Given the description of an element on the screen output the (x, y) to click on. 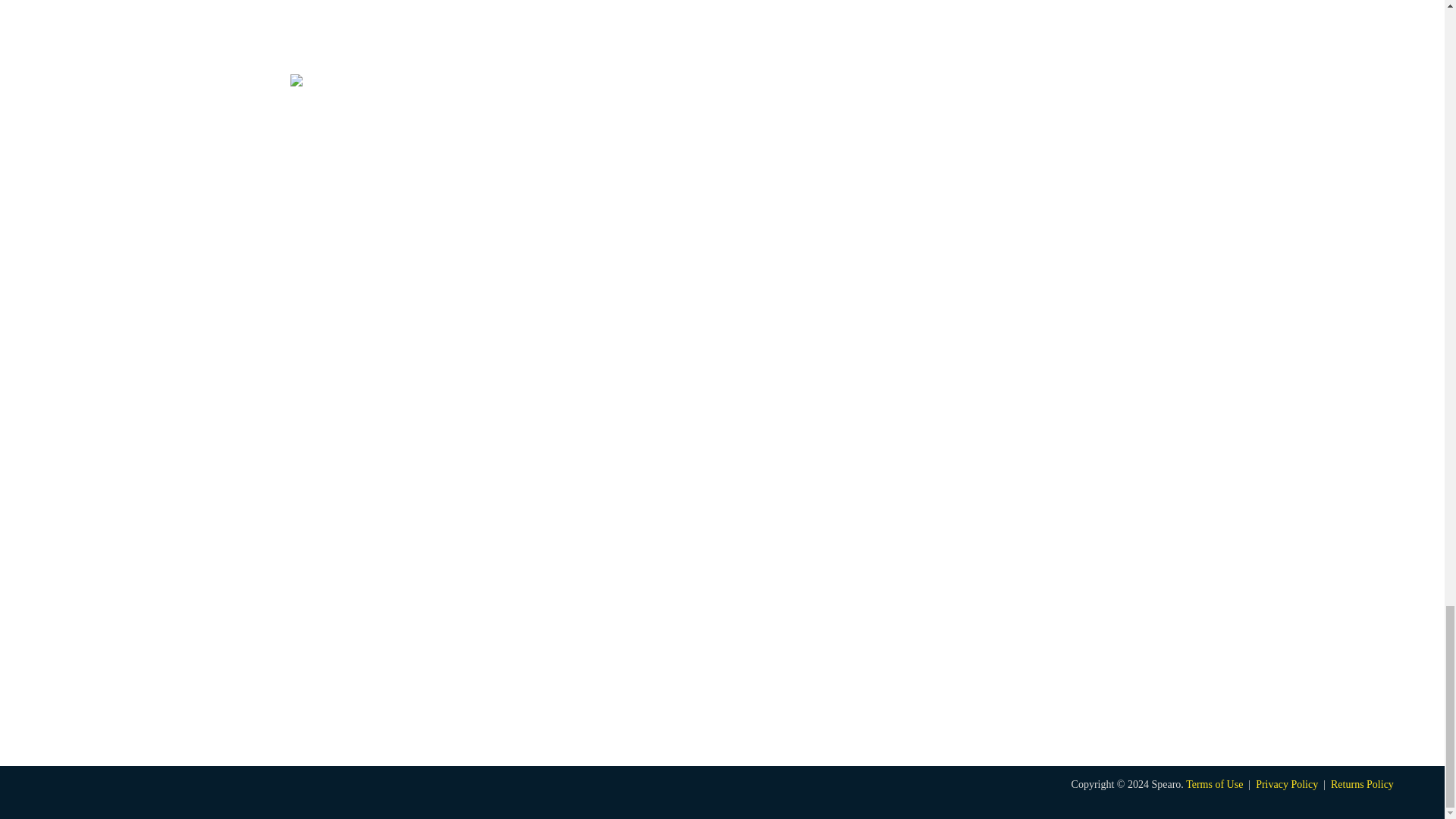
Returns Policy (1361, 784)
Privacy Policy (1286, 784)
Spearo Australia  (166, 792)
Terms of Use  (1216, 784)
Spearo Kingie Mask - Dual Lens (493, 29)
